Given the description of an element on the screen output the (x, y) to click on. 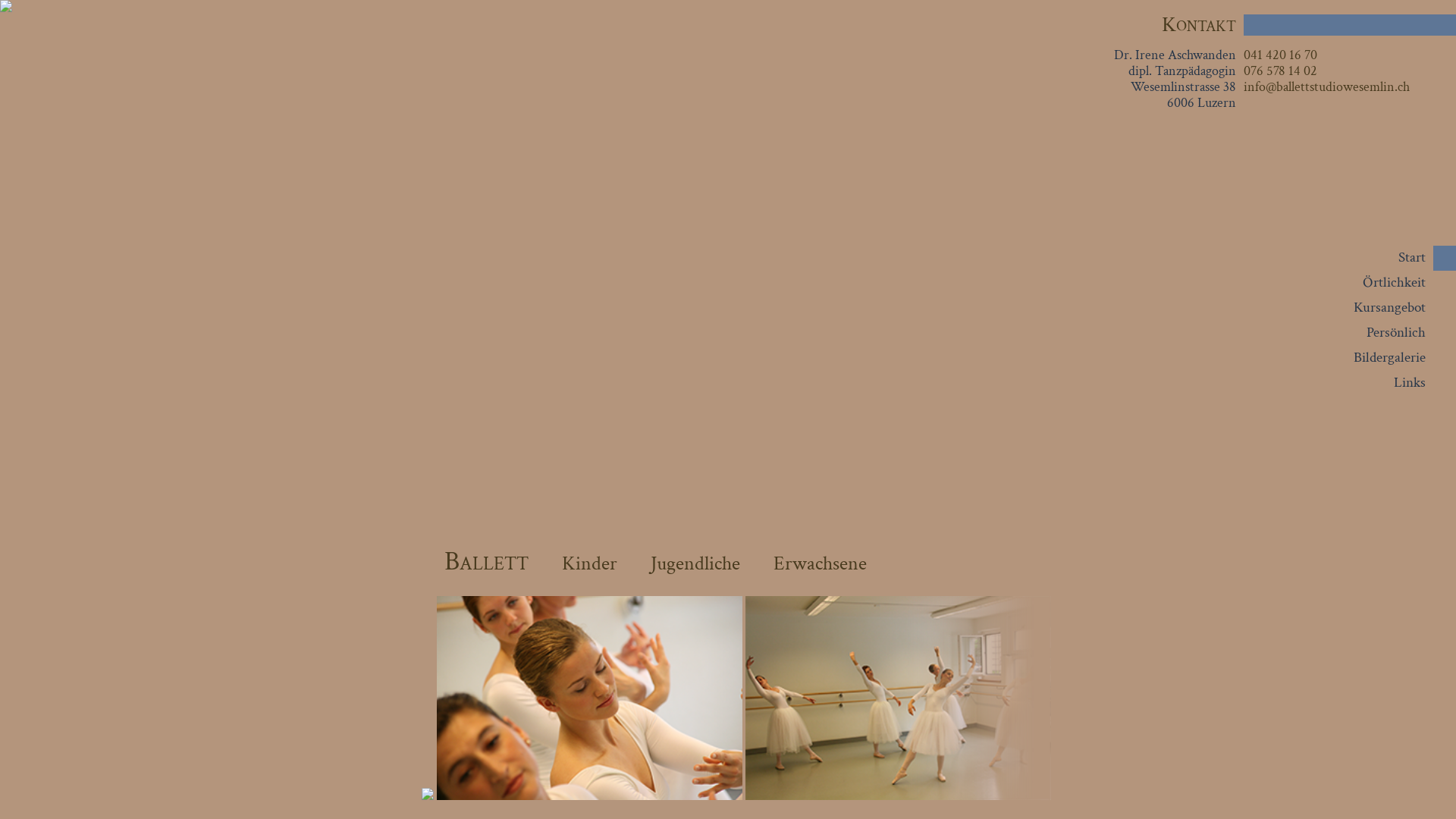
Links Element type: text (1409, 382)
Bildergalerie Element type: text (1389, 357)
info@ballettstudiowesemlin.ch Element type: text (1326, 86)
Kursangebot Element type: text (1389, 307)
Start Element type: text (1411, 256)
